Given the description of an element on the screen output the (x, y) to click on. 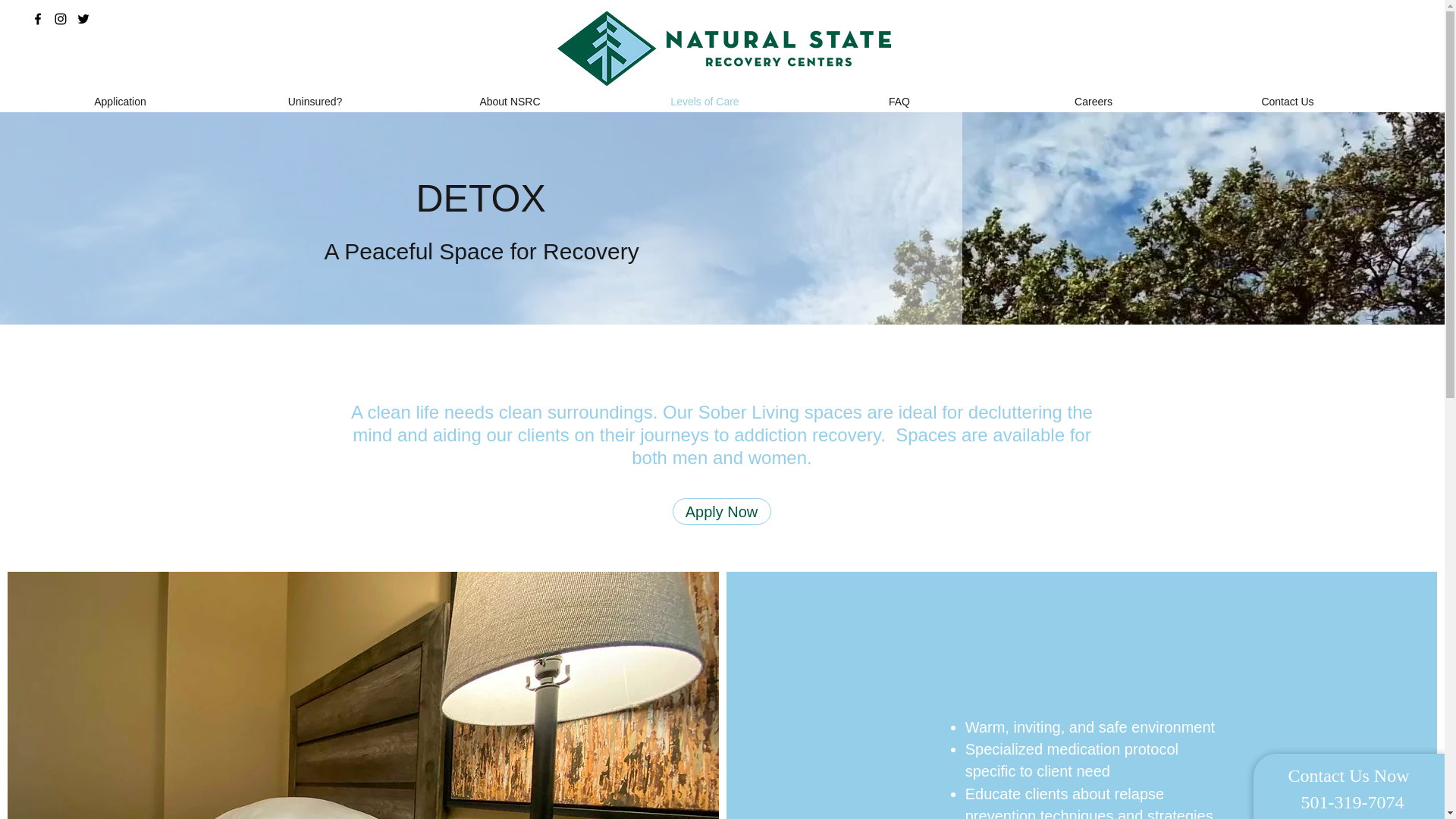
Uninsured? (314, 101)
Careers (1093, 101)
FAQ (898, 101)
Levels of Care (704, 101)
501-319-7074 (1305, 18)
Application (119, 101)
Apply Now (720, 510)
Contact Us (1287, 101)
